Given the description of an element on the screen output the (x, y) to click on. 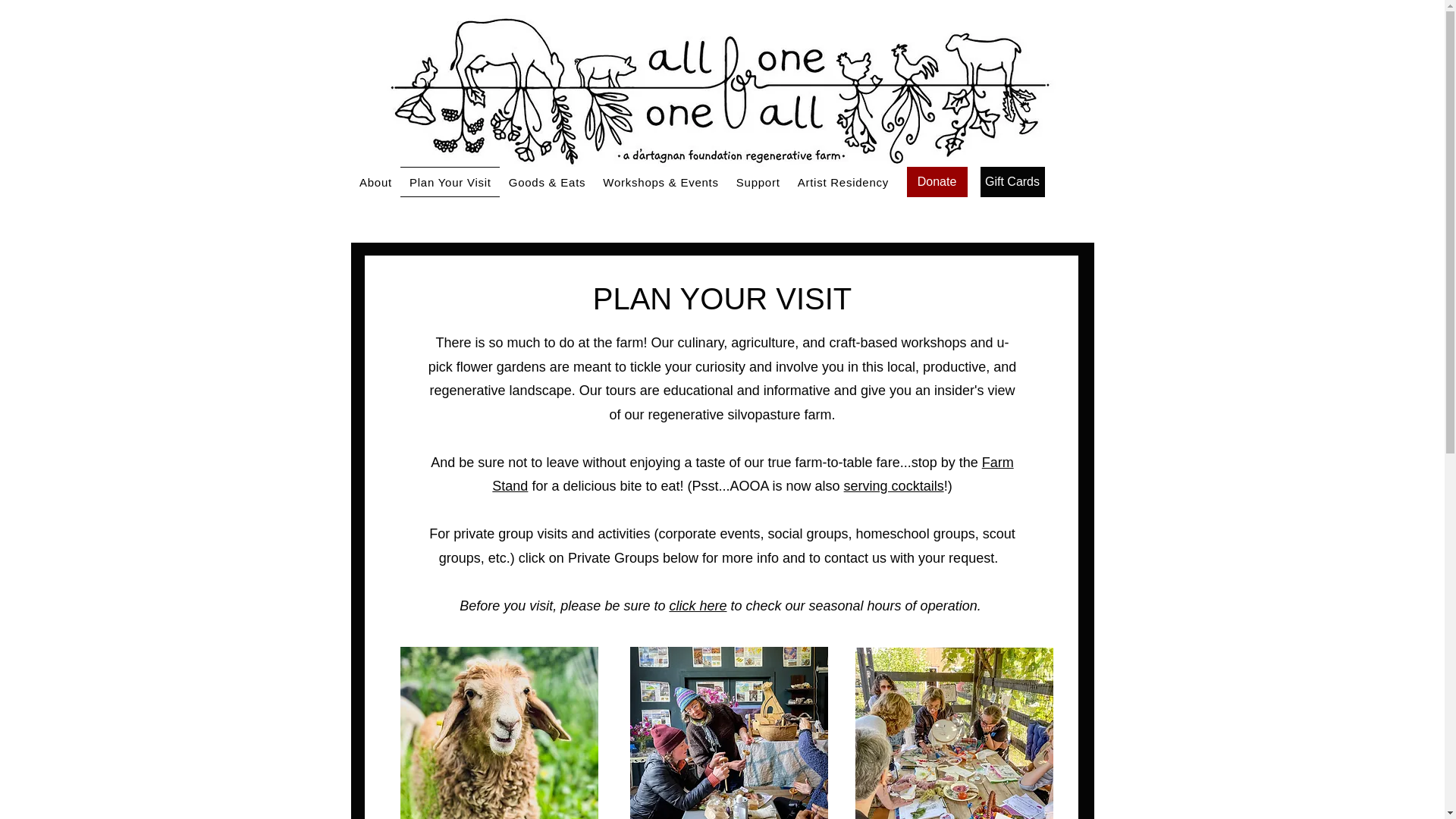
serving cocktails (893, 485)
Artist Residency (842, 182)
Plan Your Visit (449, 182)
click here (697, 604)
Farm Stand (752, 474)
Support (757, 182)
Gift Cards (1011, 182)
Donate (937, 182)
